Given the description of an element on the screen output the (x, y) to click on. 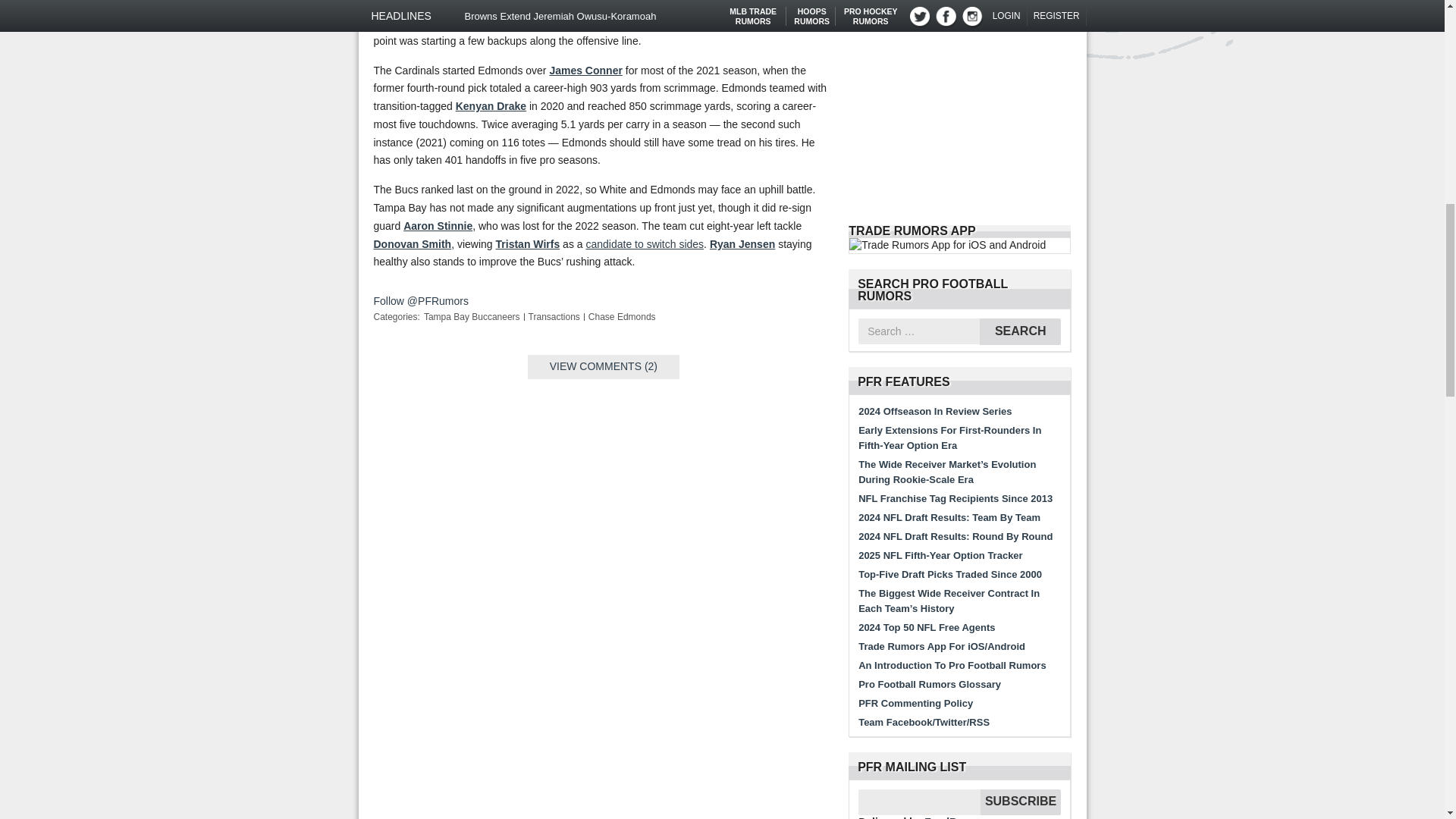
View all posts in Chase Edmonds (622, 317)
Subscribe (1020, 801)
Search for: (919, 330)
Search (1020, 331)
View all posts in Transactions (553, 317)
View all posts in Tampa Bay Buccaneers (471, 317)
